Given the description of an element on the screen output the (x, y) to click on. 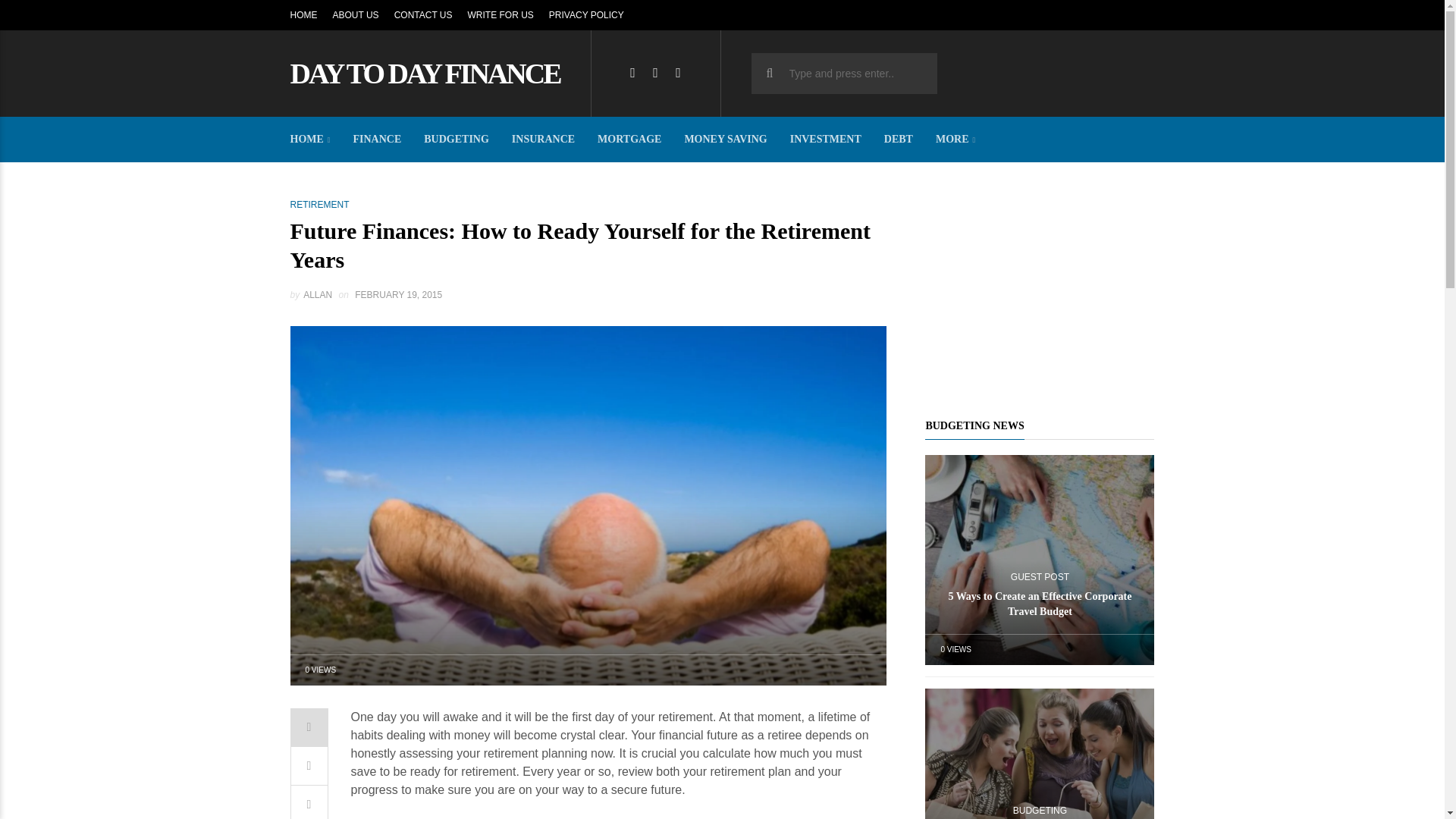
RETIREMENT (319, 204)
MORTGAGE (628, 139)
CONTACT US (423, 15)
WRITE FOR US (500, 15)
DAY TO DAY FINANCE (424, 73)
HOME (303, 15)
INVESTMENT (825, 139)
ABOUT US (354, 15)
ALLAN (316, 294)
MONEY SAVING (725, 139)
Posts by Allan (316, 294)
INSURANCE (543, 139)
PRIVACY POLICY (586, 15)
FINANCE (377, 139)
